Given the description of an element on the screen output the (x, y) to click on. 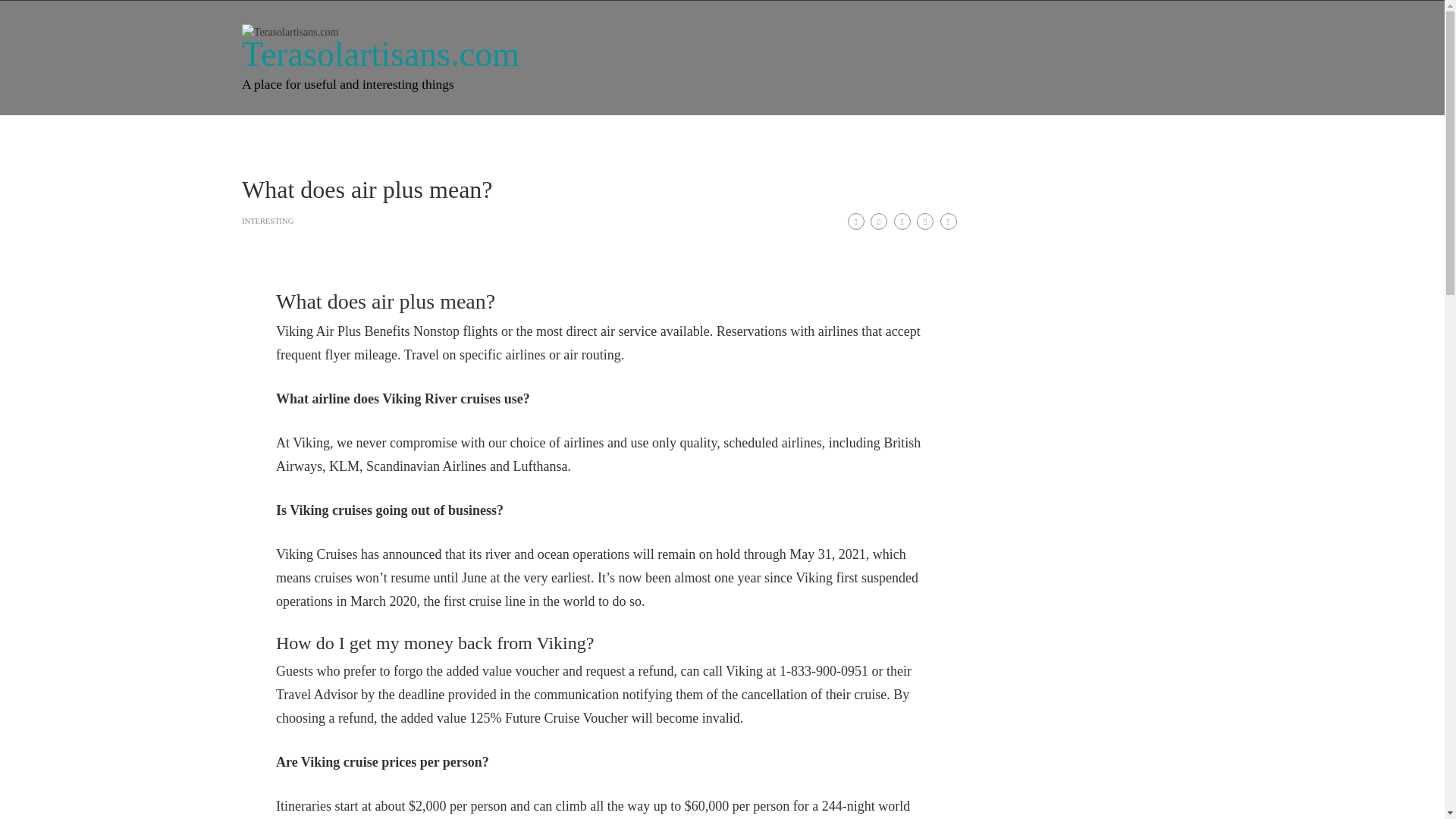
Life (414, 134)
Helpful tips (679, 134)
Terasolartisans.com (380, 54)
Advice (536, 134)
Feedback (760, 134)
Mixed (602, 134)
INTERESTING (267, 221)
Interesting (346, 134)
Notes (472, 134)
Home (273, 134)
